Given the description of an element on the screen output the (x, y) to click on. 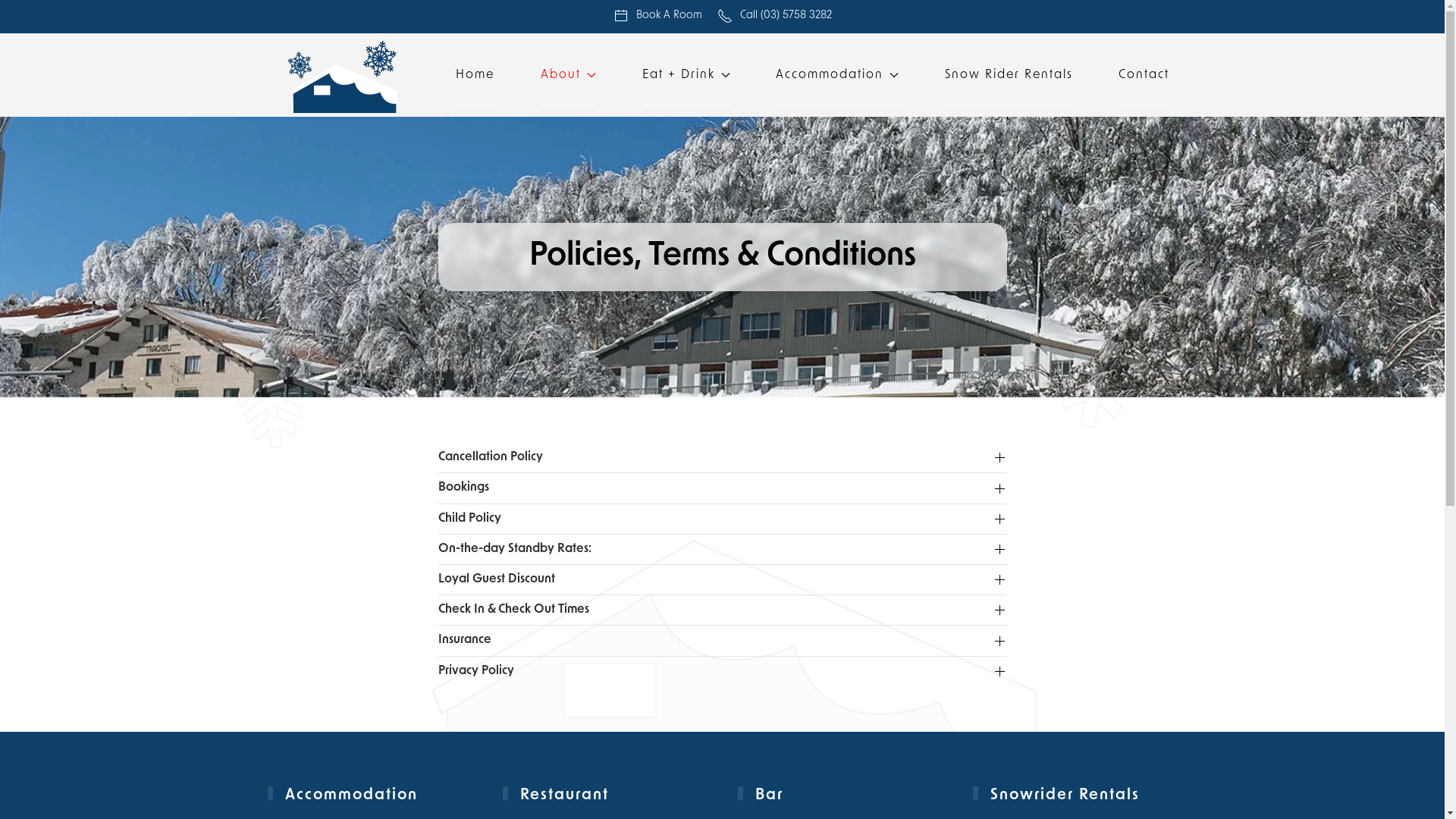
Check In & Check Out Times Element type: text (722, 609)
Call (03) 5758 3282 Element type: text (774, 16)
Cancellation Policy Element type: text (722, 457)
Book A Room Element type: text (656, 16)
Loyal Guest Discount Element type: text (722, 579)
Bookings Element type: text (722, 487)
Privacy Policy Element type: text (722, 671)
Insurance Element type: text (722, 640)
Snow Rider Rentals Element type: text (1008, 74)
Accommodation Element type: text (836, 74)
Eat + Drink Element type: text (686, 74)
Contact Element type: text (1143, 74)
On-the-day Standby Rates: Element type: text (722, 549)
Child Policy Element type: text (722, 518)
About Element type: text (568, 74)
Home Element type: text (474, 74)
